Given the description of an element on the screen output the (x, y) to click on. 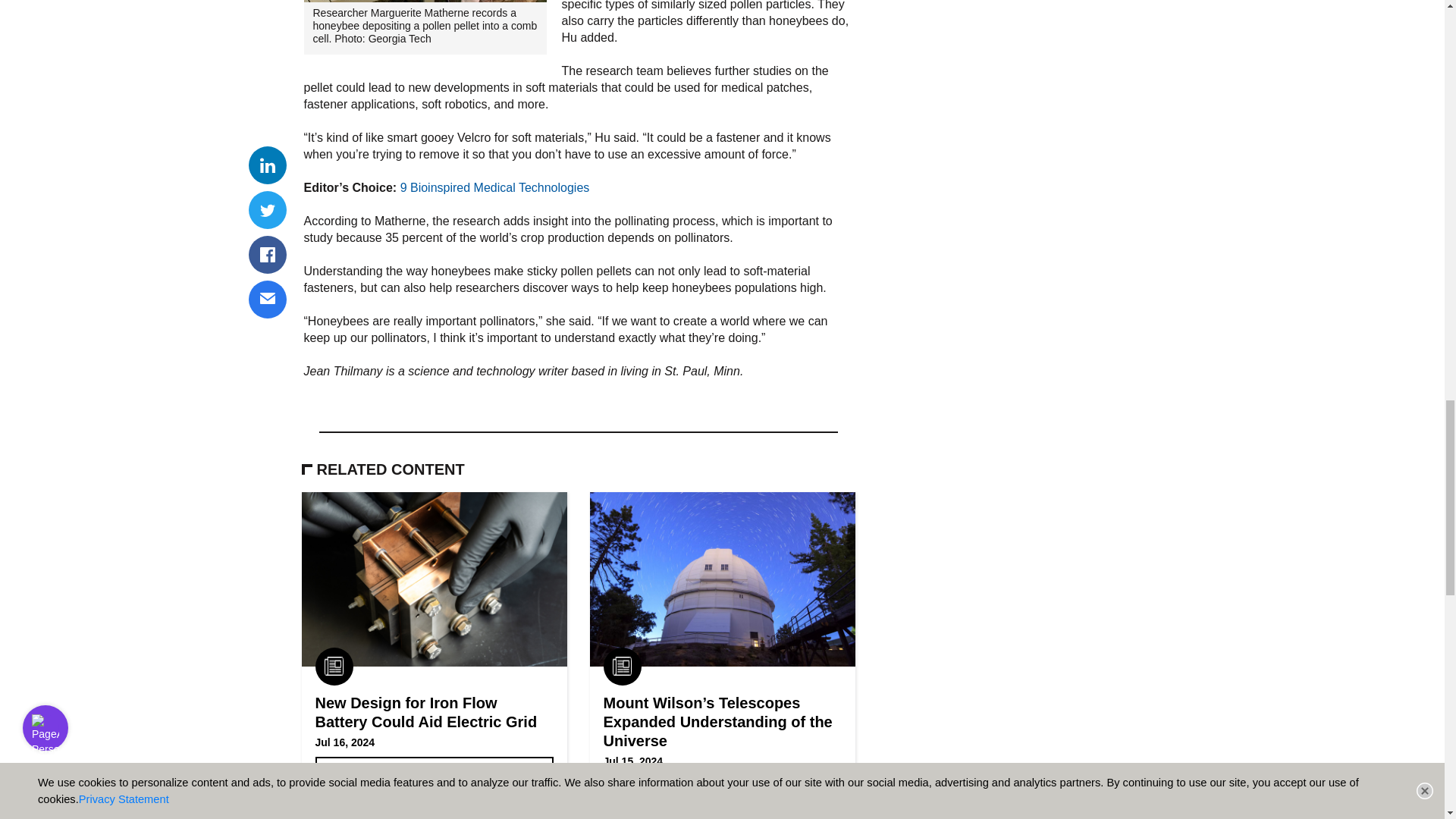
9 Bioinspired Medical Technologies (494, 187)
